Given the description of an element on the screen output the (x, y) to click on. 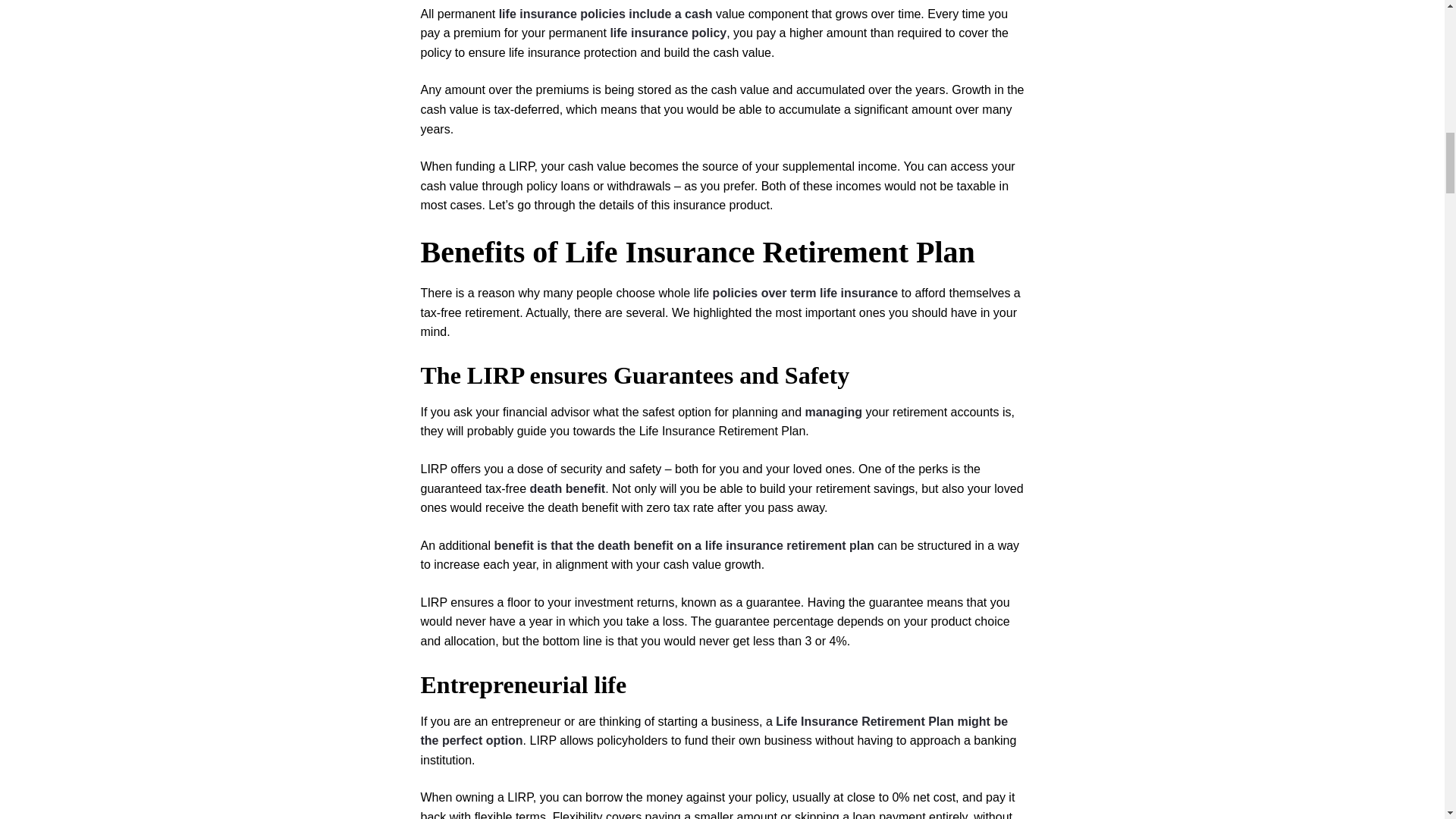
death benefit (567, 488)
life insurance policy (668, 32)
Life Insurance Retirement Plan might be the perfect option (713, 730)
policies over term life insurance (805, 292)
managing (833, 411)
life insurance policies include a cash (606, 13)
